Given the description of an element on the screen output the (x, y) to click on. 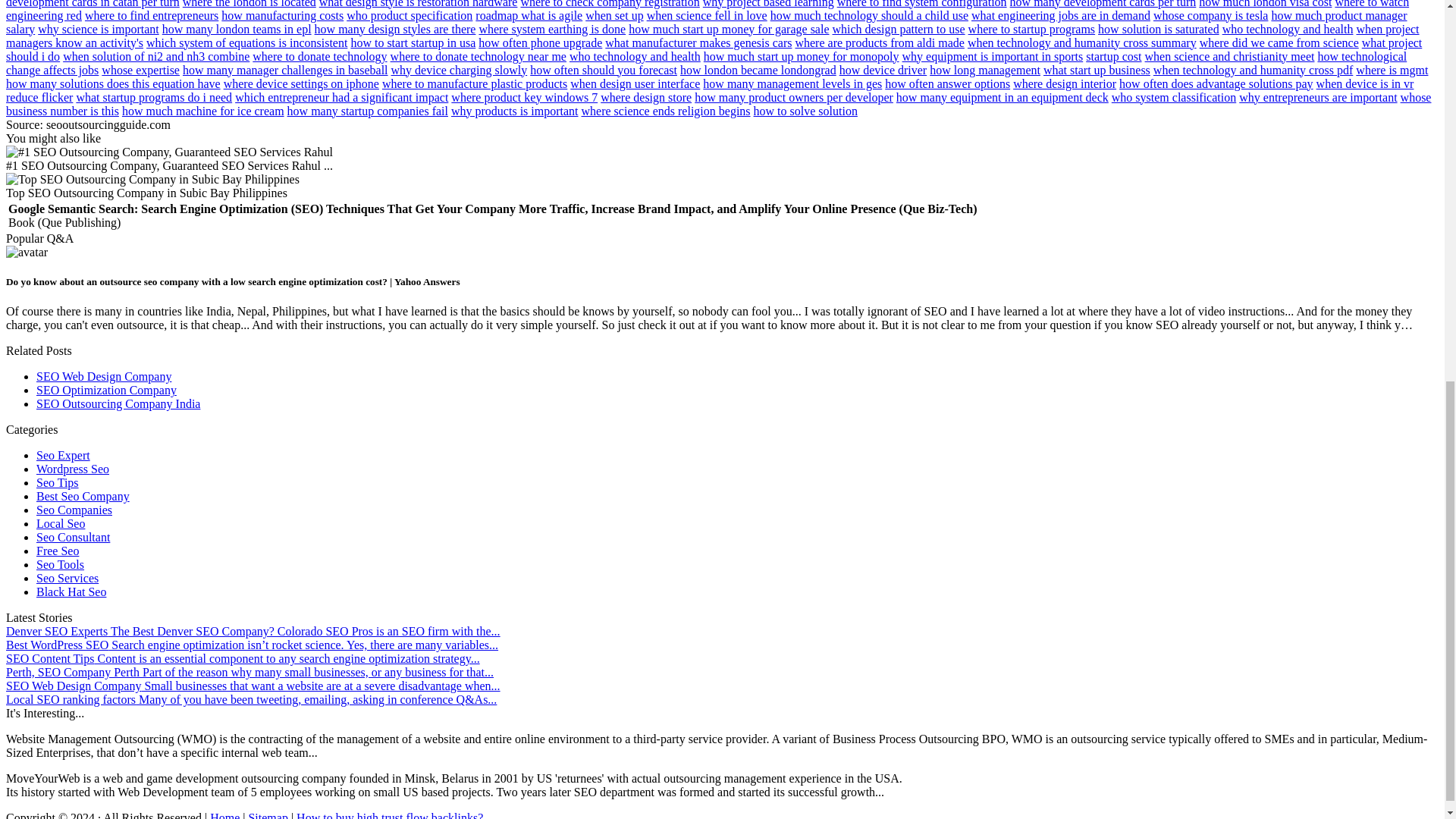
View all posts filed under Seo Companies (74, 509)
View all posts filed under Local Seo (60, 522)
View all posts filed under Seo Consultant (73, 536)
View all posts filed under Seo Tips (57, 481)
View all posts filed under Wordpress Seo (72, 468)
View all posts filed under Black Hat Seo (71, 591)
View all posts filed under Seo Tools (60, 563)
View all posts filed under Seo Services (67, 577)
View all posts filed under Seo Expert (63, 454)
View all posts filed under Free Seo (57, 550)
View all posts filed under Best Seo Company (82, 495)
